Given the description of an element on the screen output the (x, y) to click on. 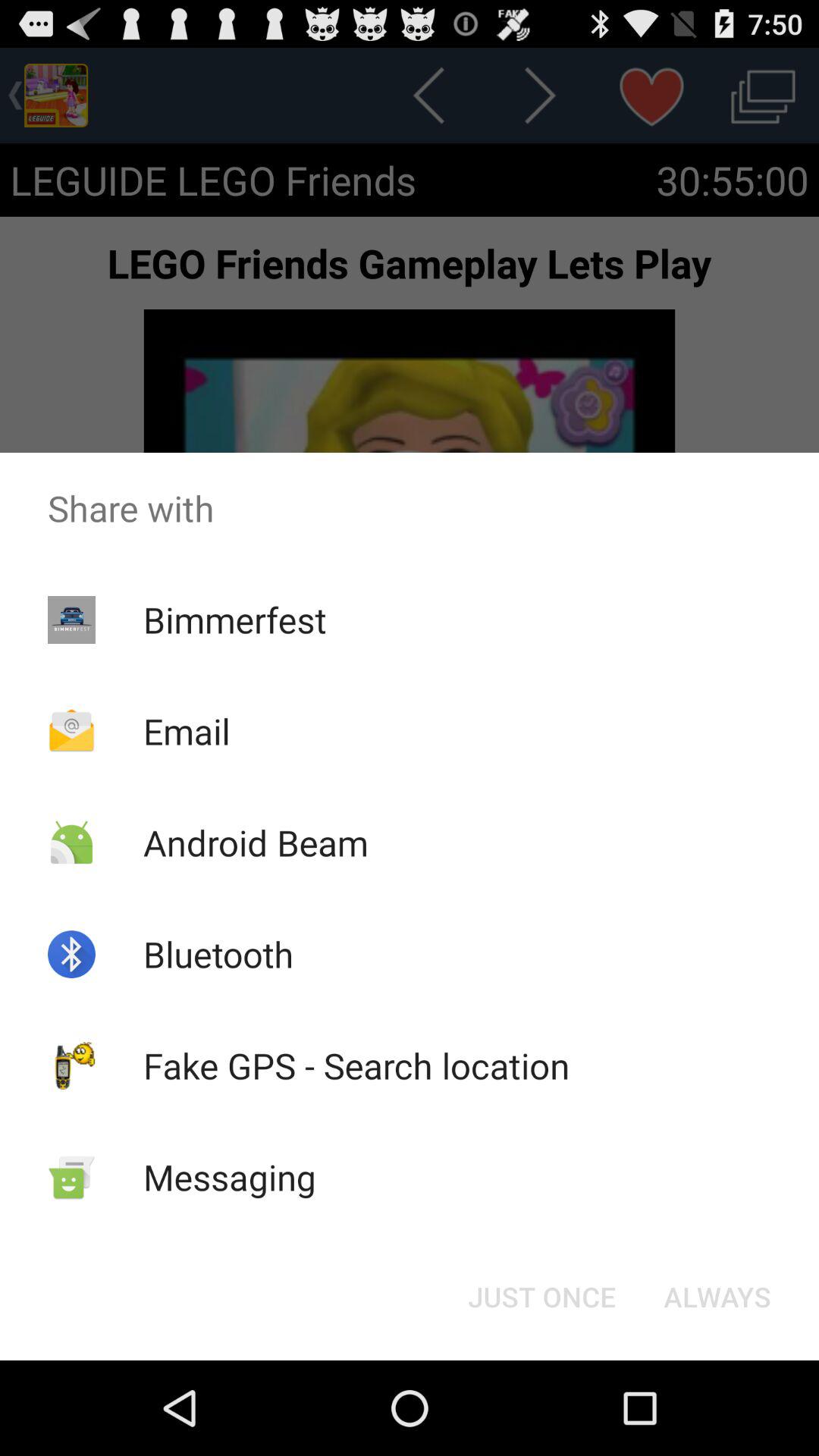
select android beam icon (255, 842)
